Given the description of an element on the screen output the (x, y) to click on. 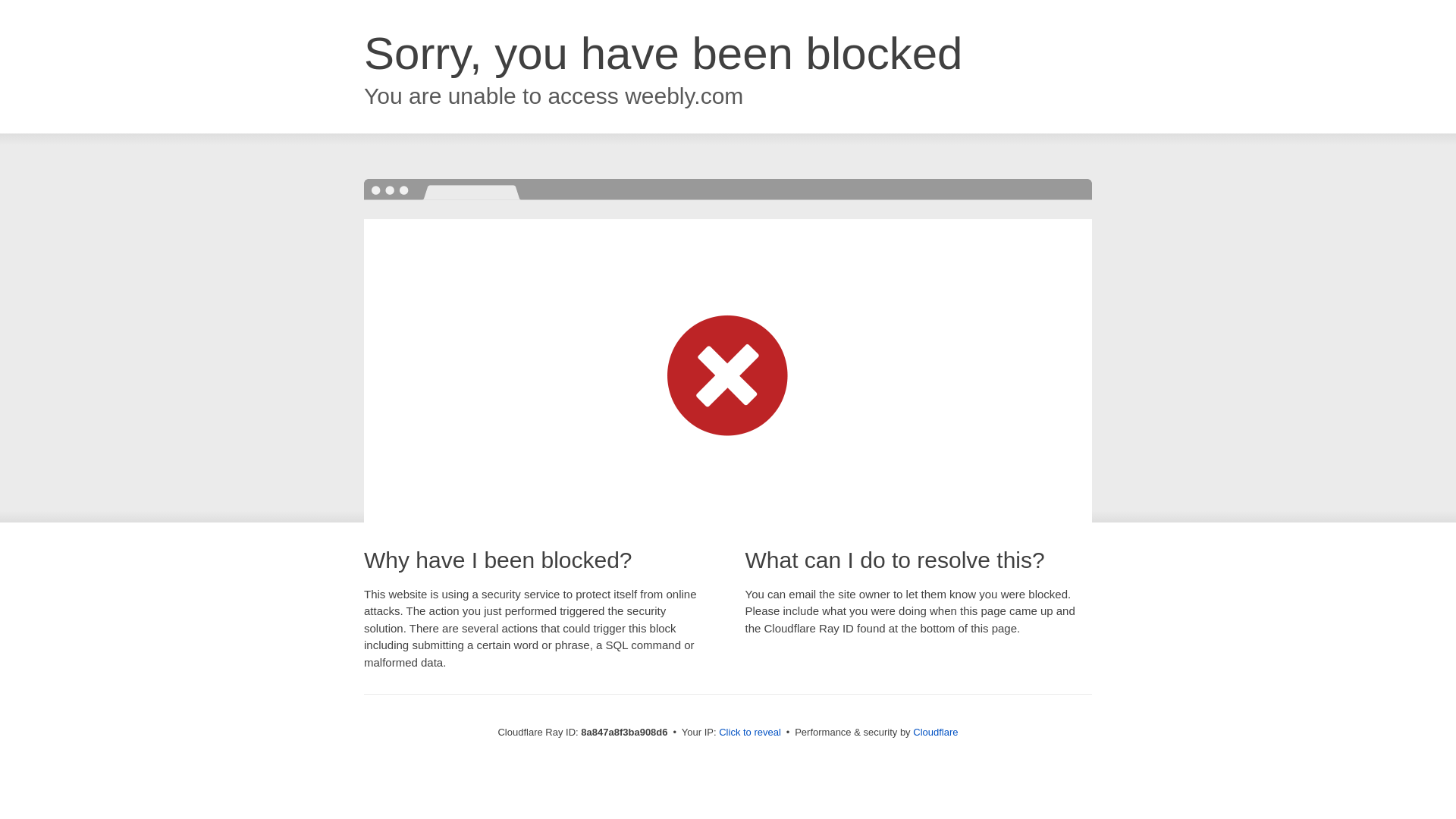
Click to reveal (749, 732)
Cloudflare (935, 731)
